Given the description of an element on the screen output the (x, y) to click on. 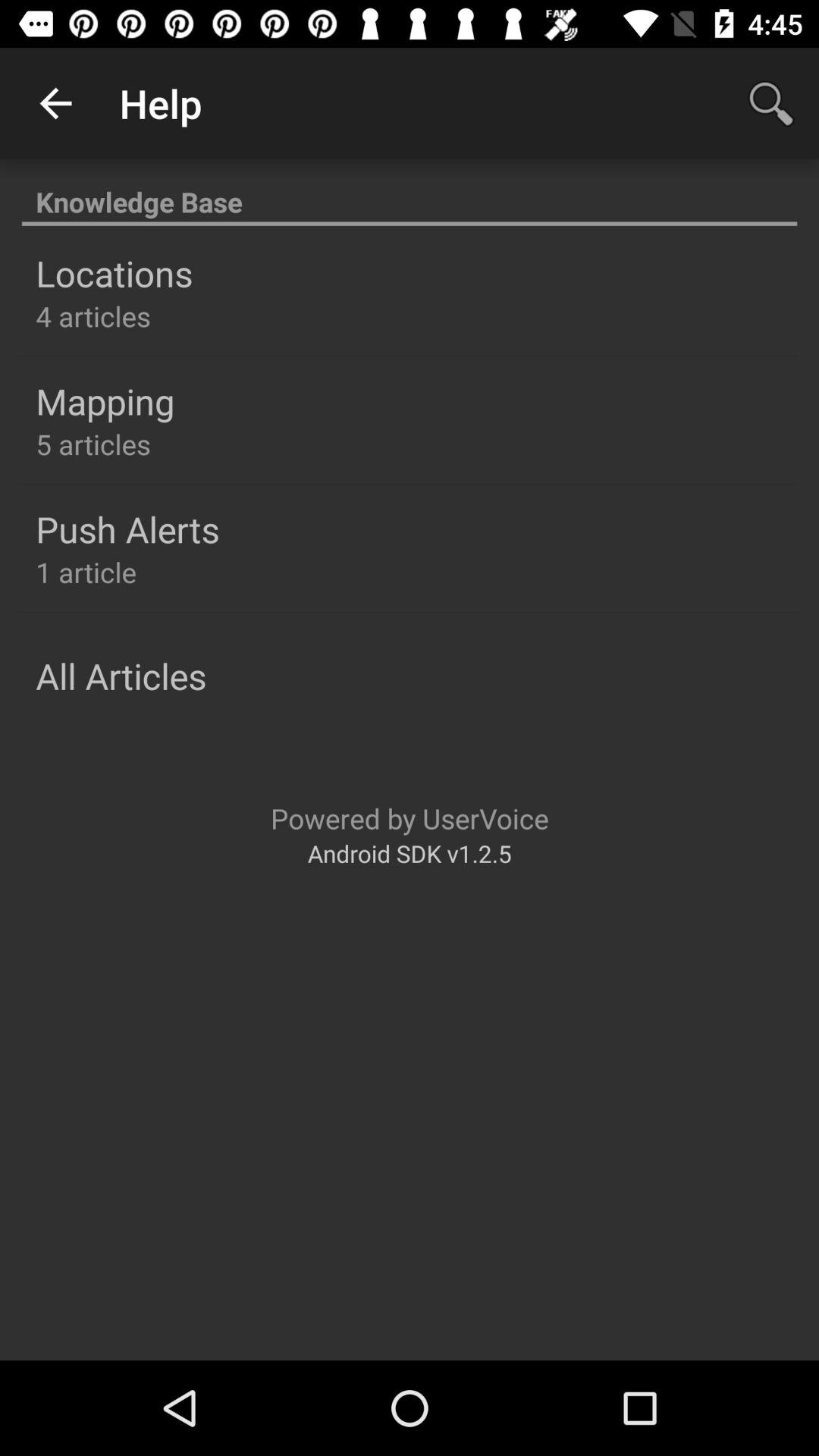
choose the item above knowledge base item (55, 103)
